Given the description of an element on the screen output the (x, y) to click on. 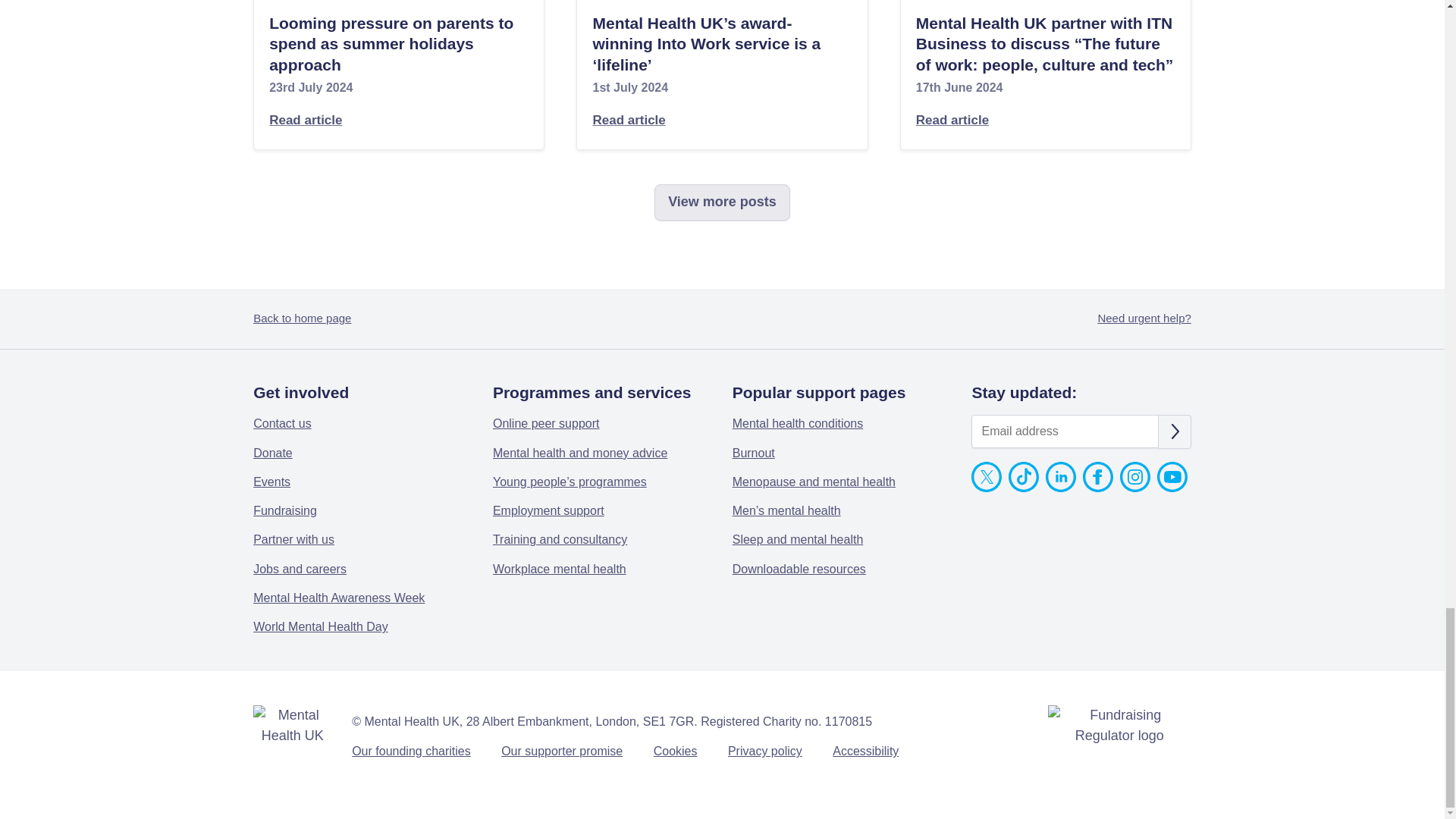
Mental Health UK on TikTok (1024, 487)
Mental Health UK on Youtube (1172, 487)
Mental Health UK on Instagram (1134, 487)
Mental Health UK on X.com (986, 487)
Go to home page (292, 725)
Mental Health UK on Linked In (1060, 487)
Mental Health UK on Facebook (1098, 487)
